Given the description of an element on the screen output the (x, y) to click on. 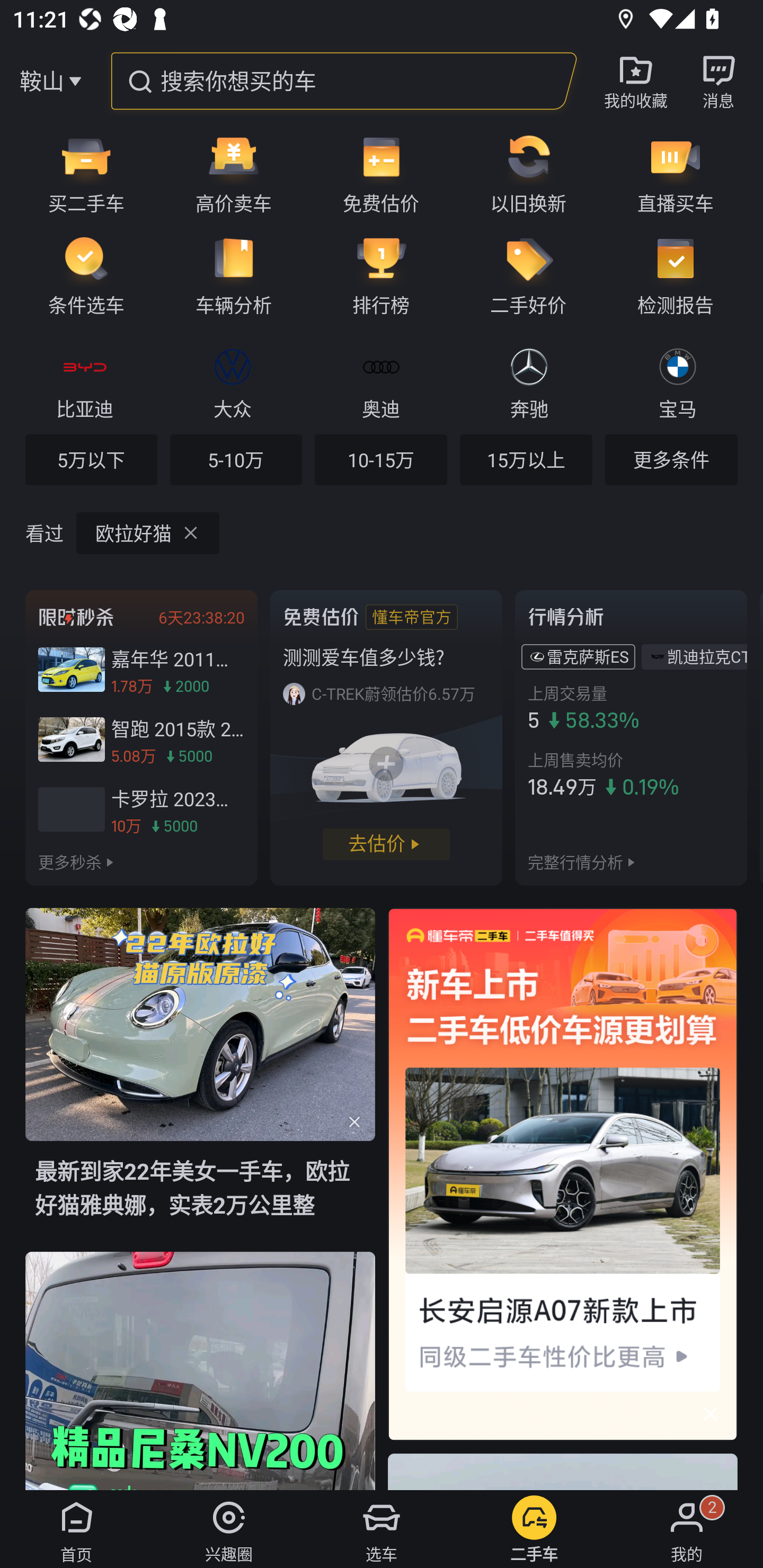
我的收藏 (635, 80)
鞍山 (41, 80)
买二手车 (80, 172)
高价卖车 (233, 172)
免费估价 (380, 172)
以旧换新 (528, 172)
直播买车 (682, 172)
条件选车 (80, 274)
车辆分析 (233, 274)
排行榜 (380, 274)
二手好价 (528, 274)
检测报告 (682, 274)
比亚迪 (84, 381)
大众 (232, 381)
奥迪 (380, 381)
奔驰 (529, 381)
宝马 (677, 381)
5万以下 (91, 459)
5-10万 (236, 459)
10-15万 (380, 459)
15万以上 (526, 459)
更多条件 (671, 459)
欧拉好猫 (147, 532)
测测爱车值多少钱? C-TREK蔚领估价6.57万 去估价  (386, 737)
嘉年华 2011款 两厢 1.5L 自动运动型 1.78万  2000 (141, 669)
雷克萨斯ES (587, 656)
凯迪拉克CT5 (706, 656)
智跑 2015款 2.0L 自动两驱版GL 5.08万  5000 (141, 739)
卡罗拉 2023款 智能电混双擎 1.8L E-CVT精英版 10万  5000 (141, 809)
更多秒杀 (69, 862)
完整行情分析 (575, 862)
最新到家22年美女一手车，欧拉好猫雅典娜，实表2万公里整 (200, 1079)
 首页 (76, 1528)
 兴趣圈 (228, 1528)
 选车 (381, 1528)
二手车 (533, 1528)
 我的 (686, 1528)
